Given the description of an element on the screen output the (x, y) to click on. 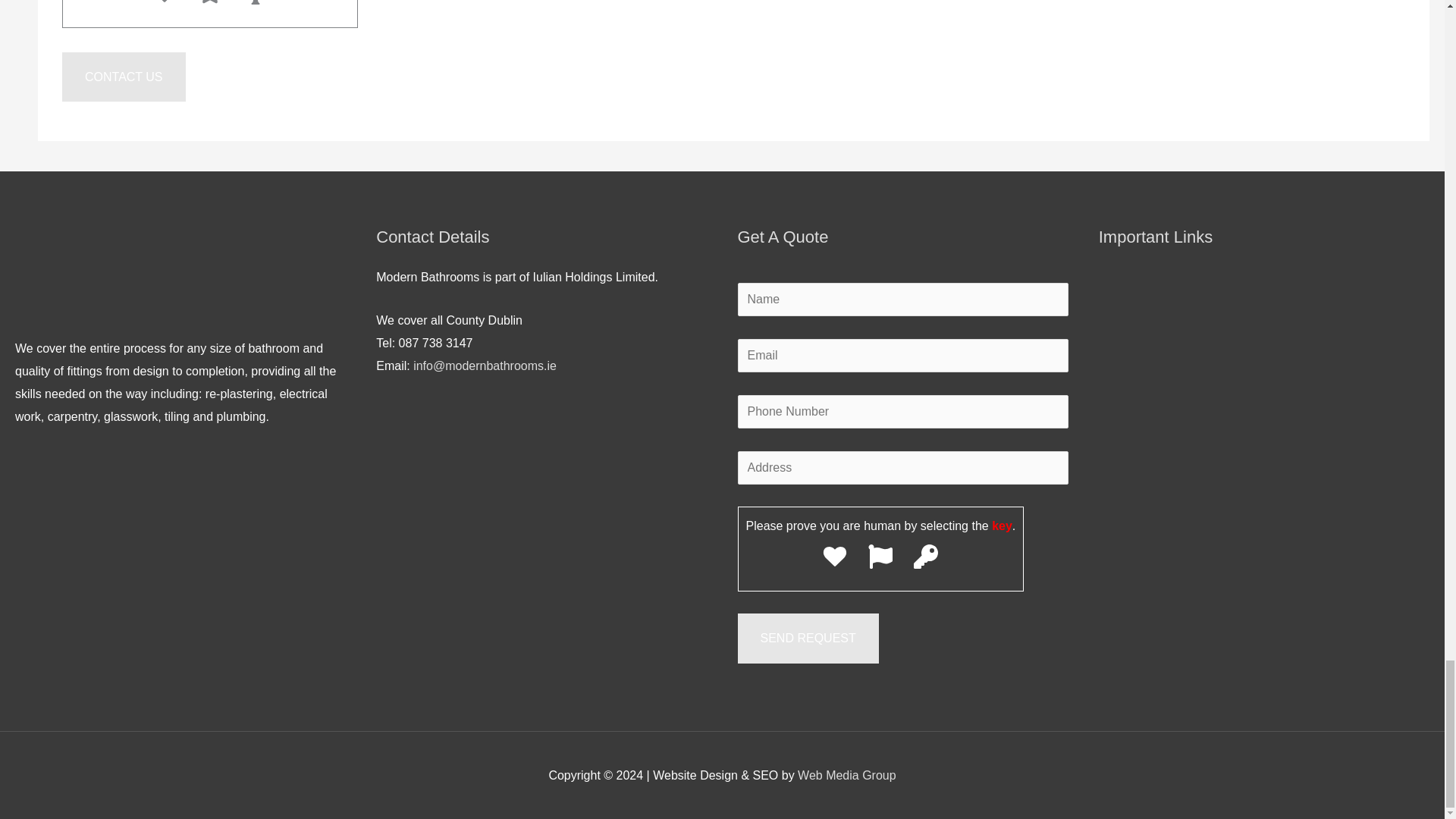
SEND REQUEST (806, 638)
Web Media Group (846, 775)
SEND REQUEST (806, 638)
CONTACT US (124, 77)
CONTACT US (124, 77)
